Given the description of an element on the screen output the (x, y) to click on. 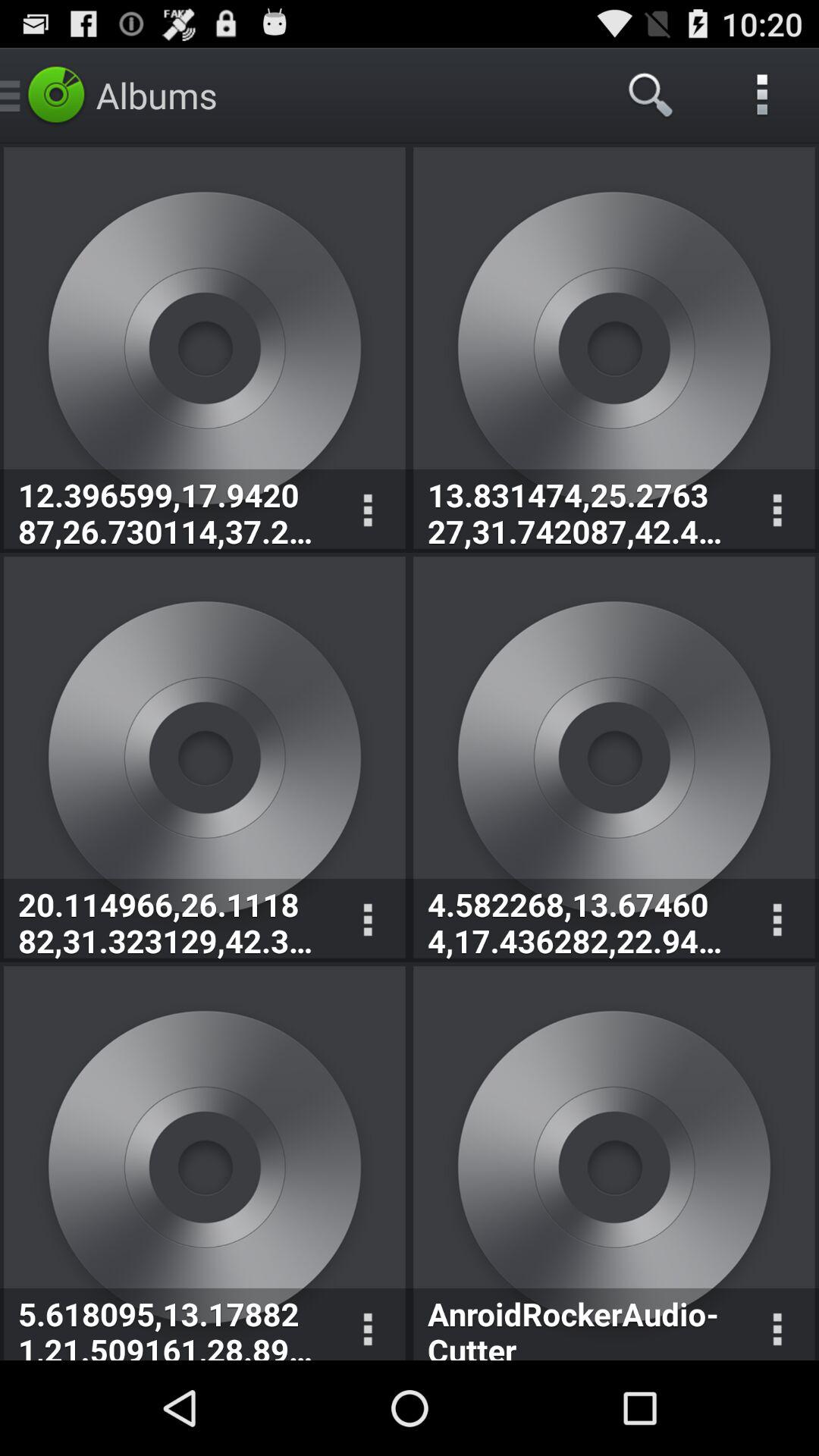
click on the options icon which is on the first image second row (367, 920)
select the 5th album (204, 1162)
click on the search icon (651, 95)
click on the search button (651, 95)
click on the second image in the second row (613, 756)
click on the bottom left file option (204, 1162)
